Given the description of an element on the screen output the (x, y) to click on. 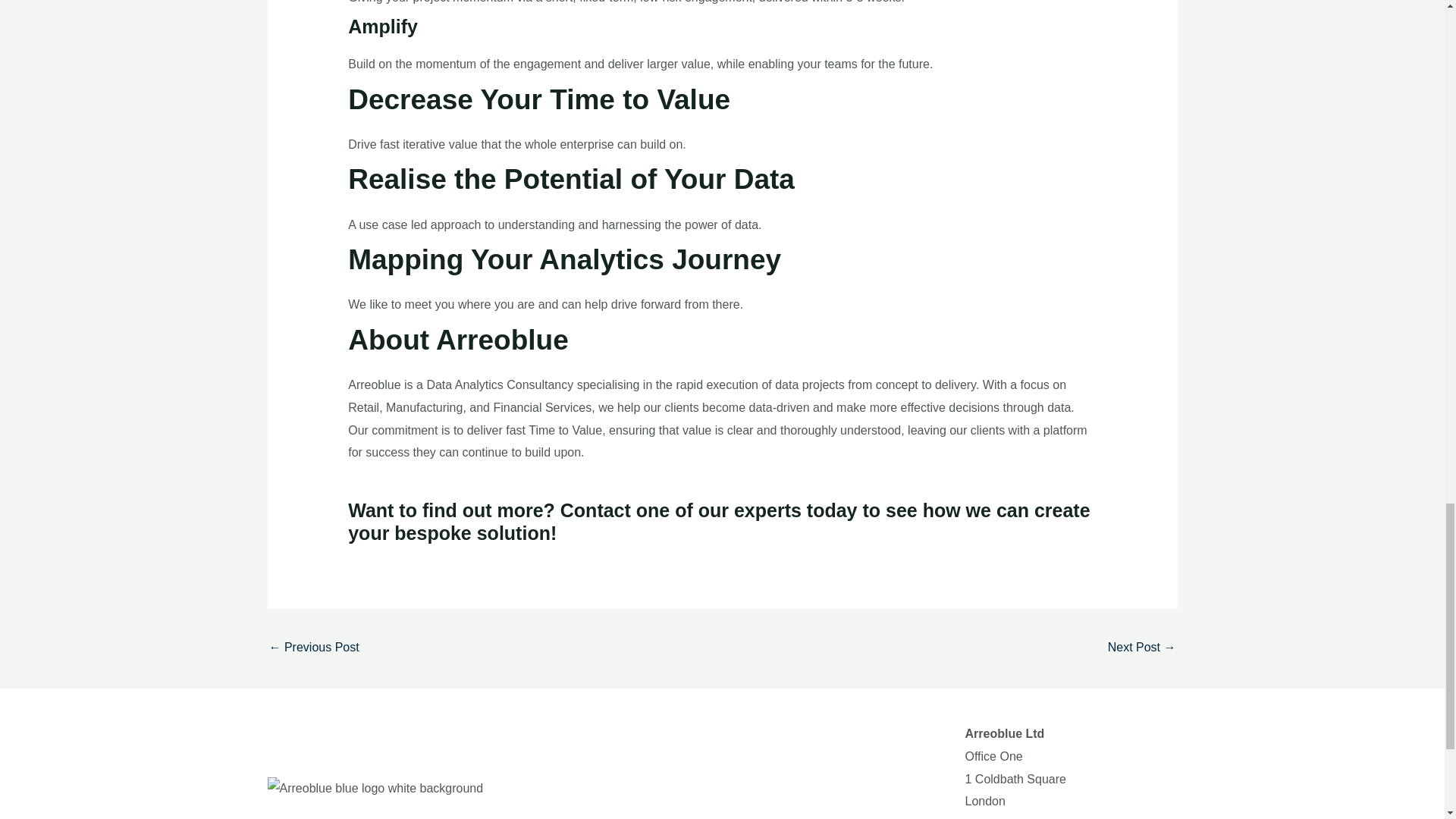
Just a Thought: When should AI augment the human touch? (1142, 648)
